Given the description of an element on the screen output the (x, y) to click on. 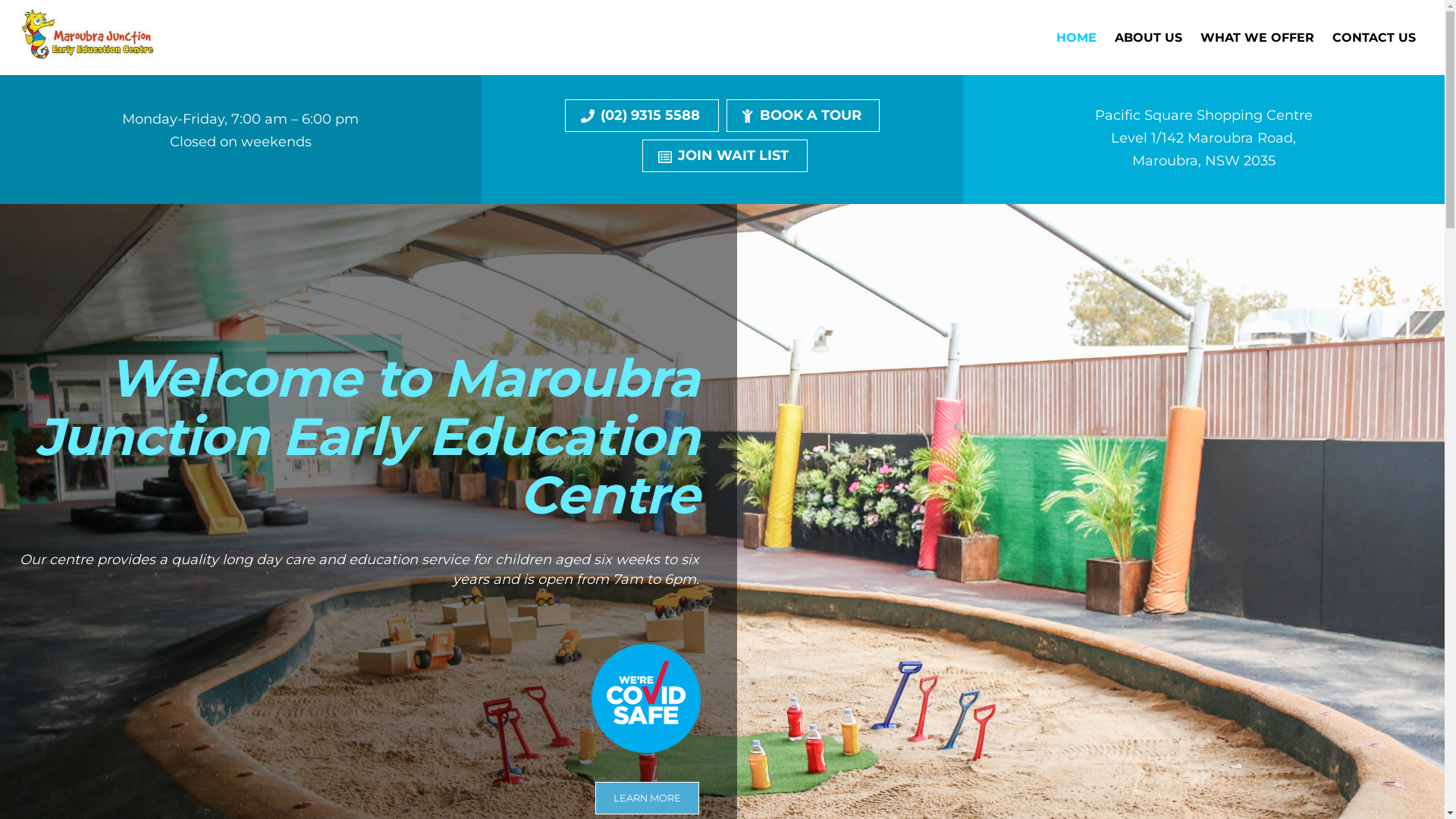
COVID_Safe_Badge_Digital Element type: hover (645, 698)
JOIN WAIT LIST Element type: text (724, 155)
Maroubra Junction Early Education Centre Element type: hover (87, 51)
Maroubra Junction Early Education Centre Element type: hover (87, 34)
WHAT WE OFFER Element type: text (1257, 37)
CONTACT US Element type: text (1374, 37)
ABOUT US Element type: text (1148, 37)
(02) 9315 5588 Element type: text (641, 115)
BOOK A TOUR Element type: text (802, 115)
HOME Element type: text (1075, 37)
LEARN MORE Element type: text (646, 797)
